Given the description of an element on the screen output the (x, y) to click on. 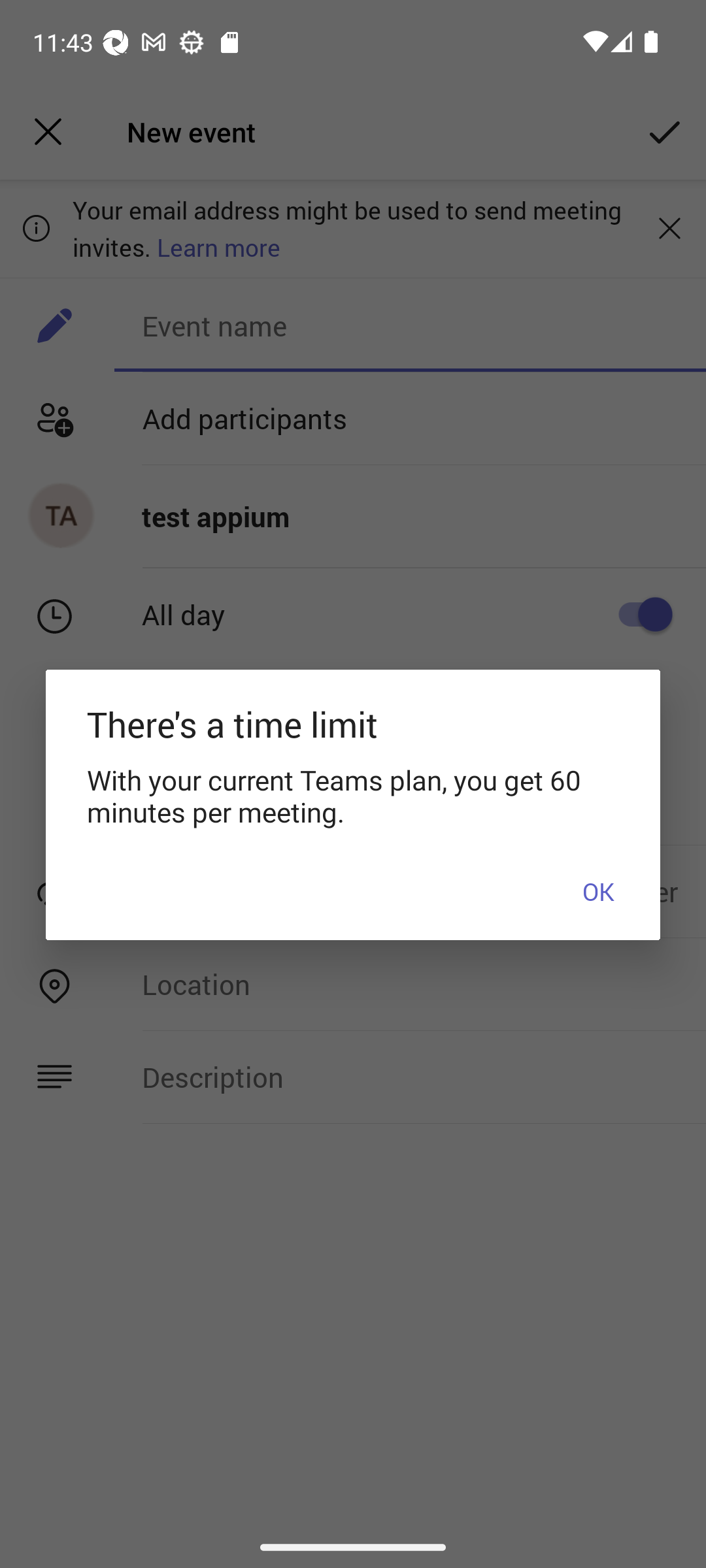
OK (598, 890)
